Given the description of an element on the screen output the (x, y) to click on. 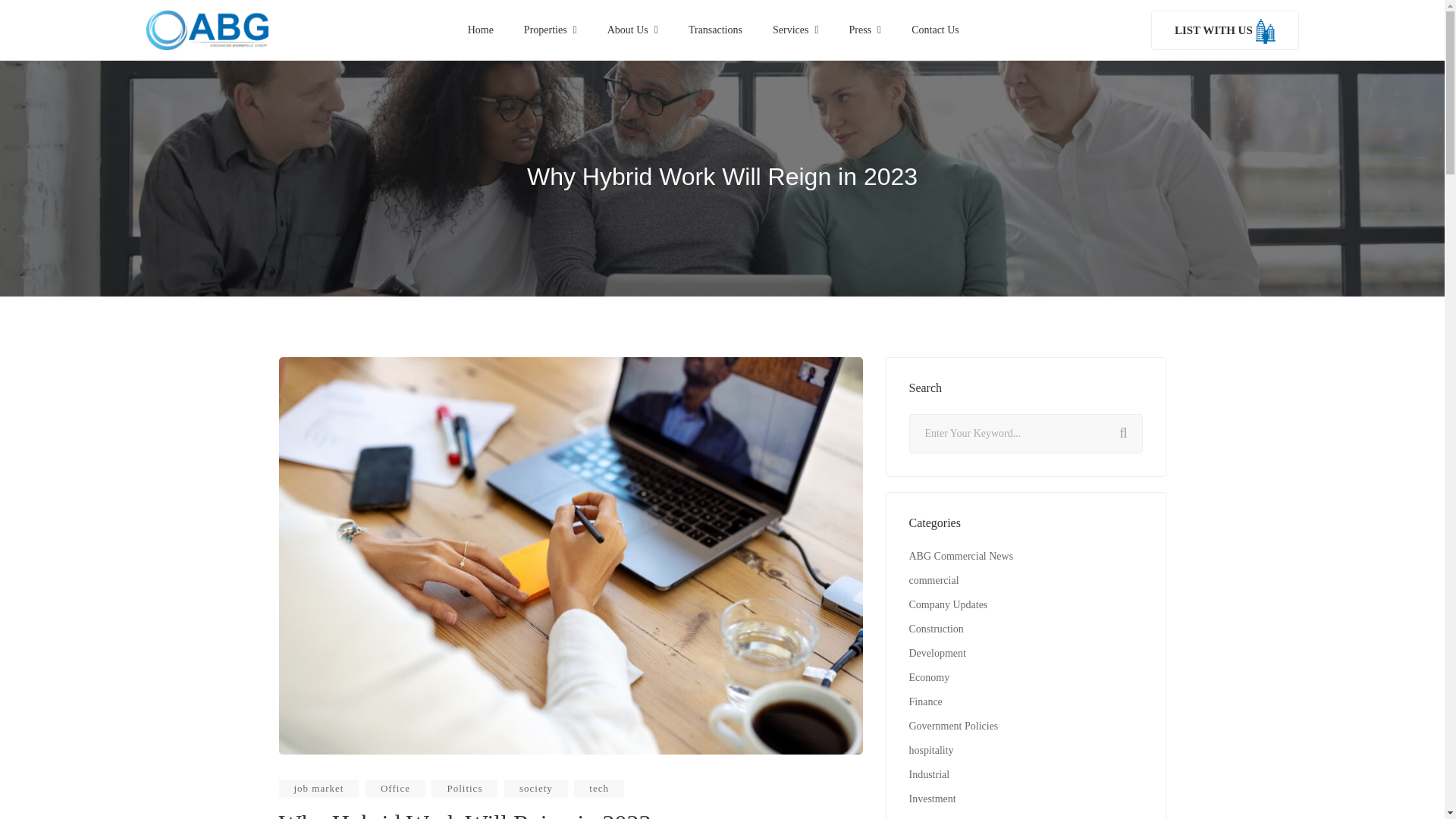
society (535, 788)
Politics (463, 788)
List With US (1224, 29)
Office (395, 788)
job market (319, 788)
LIST WITH US (1224, 29)
ABG Commercial Realty-Boston Commercial Real Estate News (206, 29)
tech (598, 788)
